Given the description of an element on the screen output the (x, y) to click on. 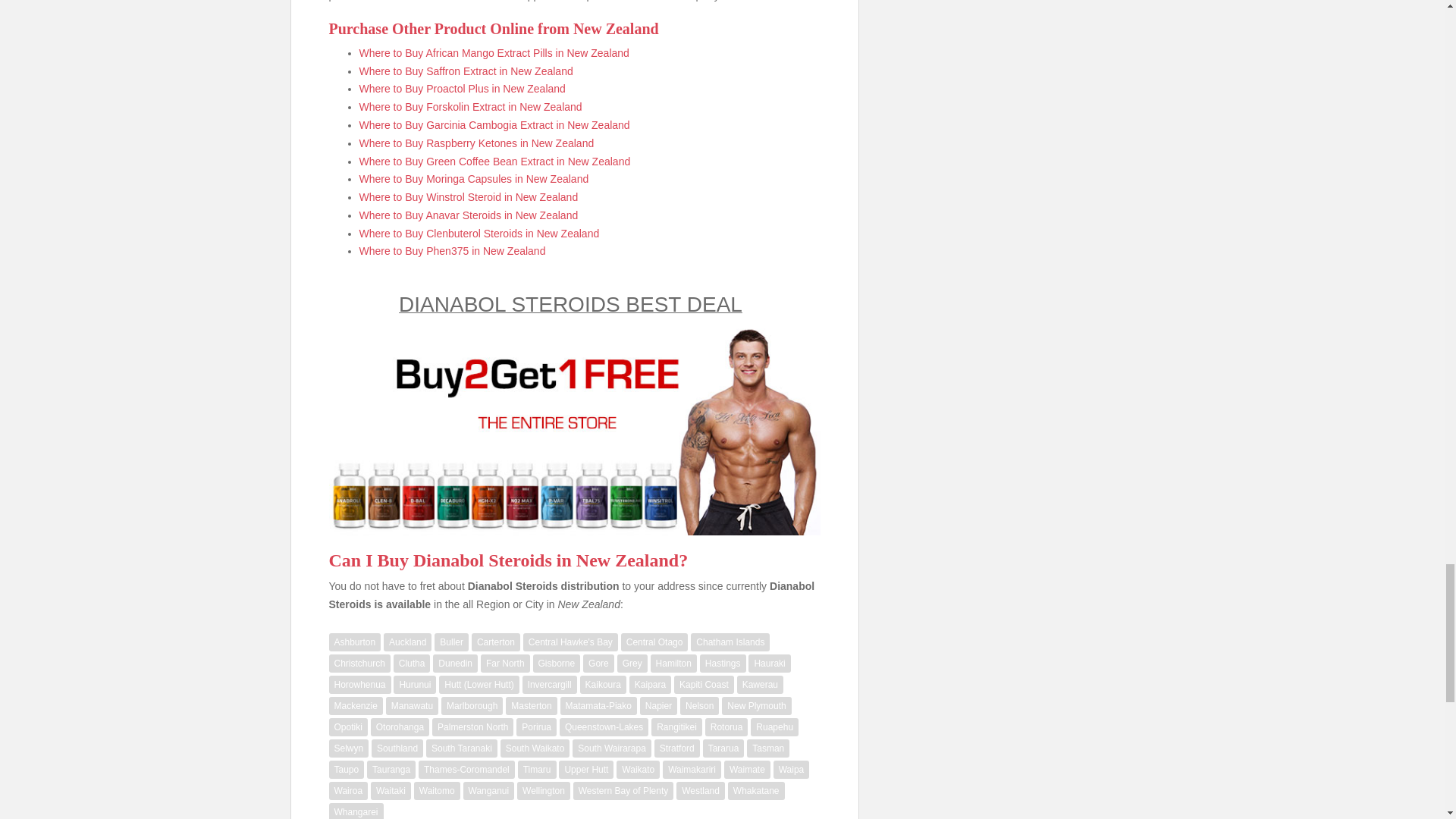
Where to Buy Clenbuterol Steroids in New Zealand (479, 233)
Where to Buy Raspberry Ketones in New Zealand (476, 143)
Where to Buy Saffron Extract in New Zealand (466, 70)
Where to Buy Proactol Plus in New Zealand (462, 88)
Where to Buy Forskolin Extract in New Zealand (470, 106)
Where to Purchase saffron-extract online New Zealand (466, 70)
Where to Purchase phen375 online New Zealand (452, 250)
Where to Purchase winstrol-steroids online New Zealand (468, 196)
Where to Buy Moringa Capsules in New Zealand (474, 178)
Where to Purchase proactol online New Zealand (462, 88)
